Given the description of an element on the screen output the (x, y) to click on. 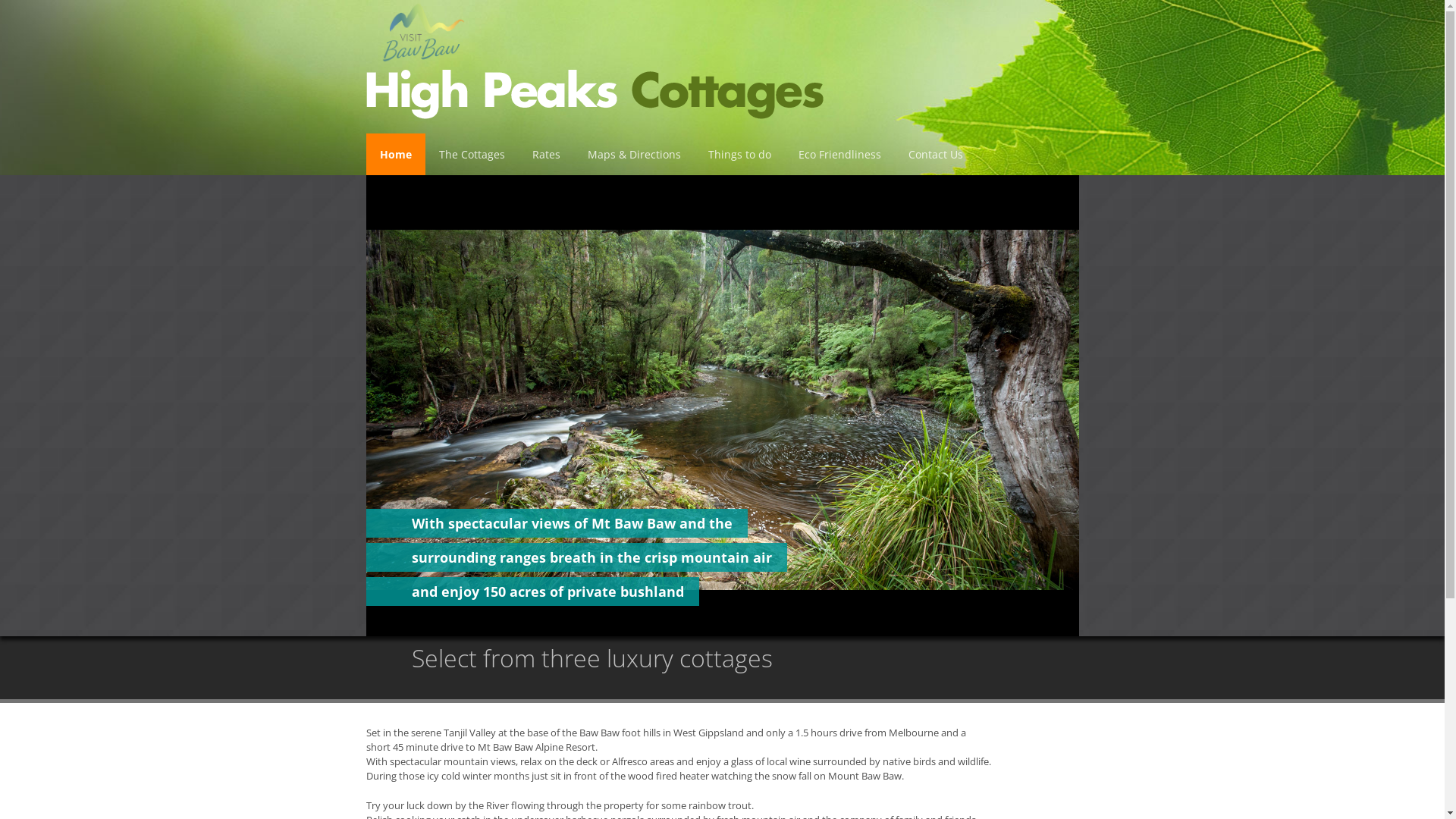
Maps & Directions Element type: text (633, 154)
Eco Friendliness Element type: text (839, 154)
Tanjil River West Branch Element type: hover (721, 405)
Things to do Element type: text (739, 154)
The Cottages Element type: text (470, 154)
Contact Us Element type: text (935, 154)
Home Element type: text (394, 154)
Rates Element type: text (546, 154)
